Given the description of an element on the screen output the (x, y) to click on. 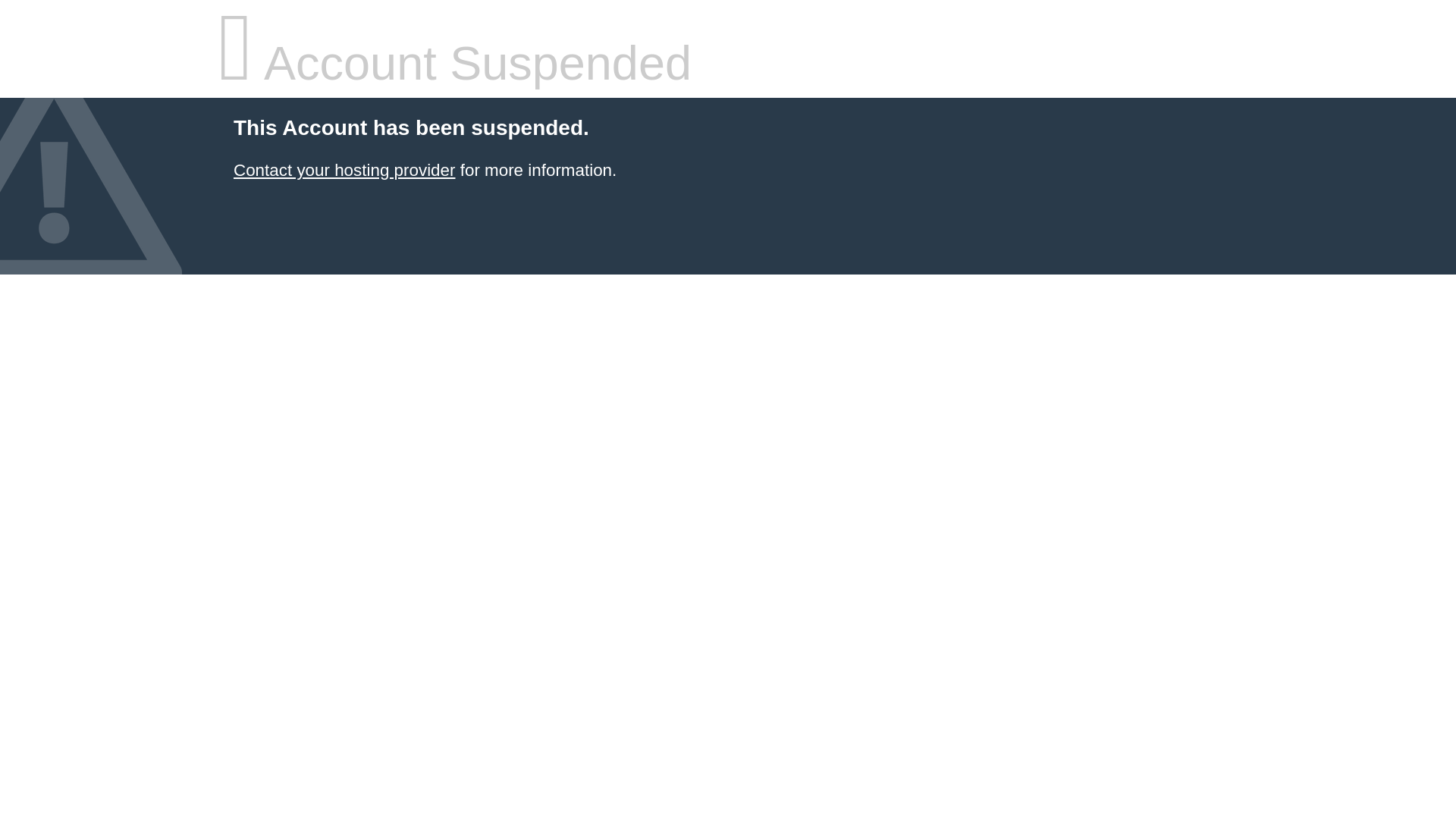
Contact your hosting provider (343, 169)
